Given the description of an element on the screen output the (x, y) to click on. 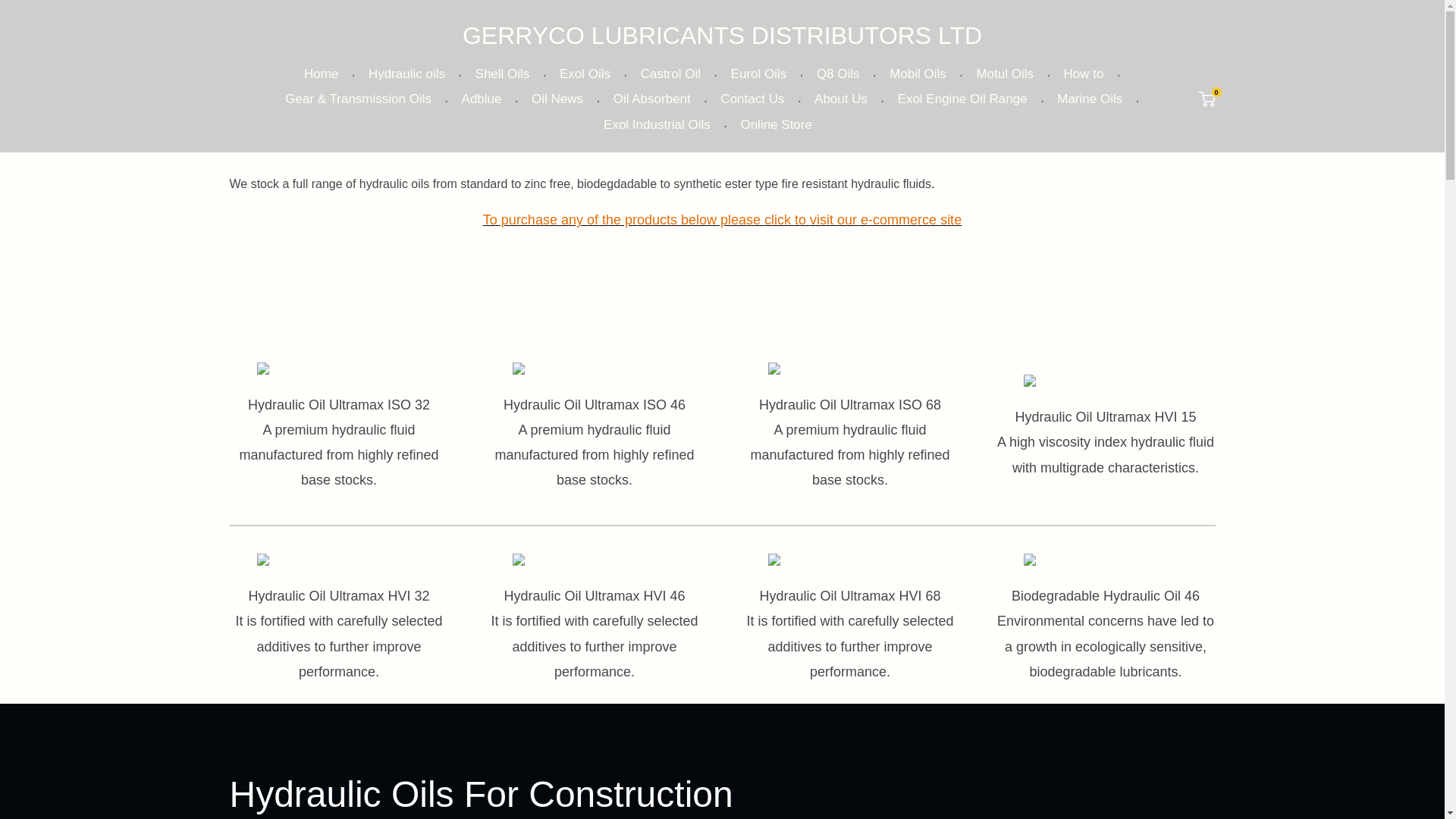
Hydraulic Oil Ultramax ISO 46 (594, 368)
Hydraulic Oil Ultramax HVI 68 (849, 559)
Motul Oils (1004, 73)
Exol Industrial Oils (656, 124)
Q8 Oils (838, 73)
Hydraulic Oil Ultramax HVI 46 (594, 559)
Hydraulic Oil Ultramax HVI 32 (338, 559)
Biodegradable Hydraulic Oil 46 (1105, 559)
Hydraulic Oil Ultramax ISO 68 (849, 368)
Contact Us (752, 98)
